Given the description of an element on the screen output the (x, y) to click on. 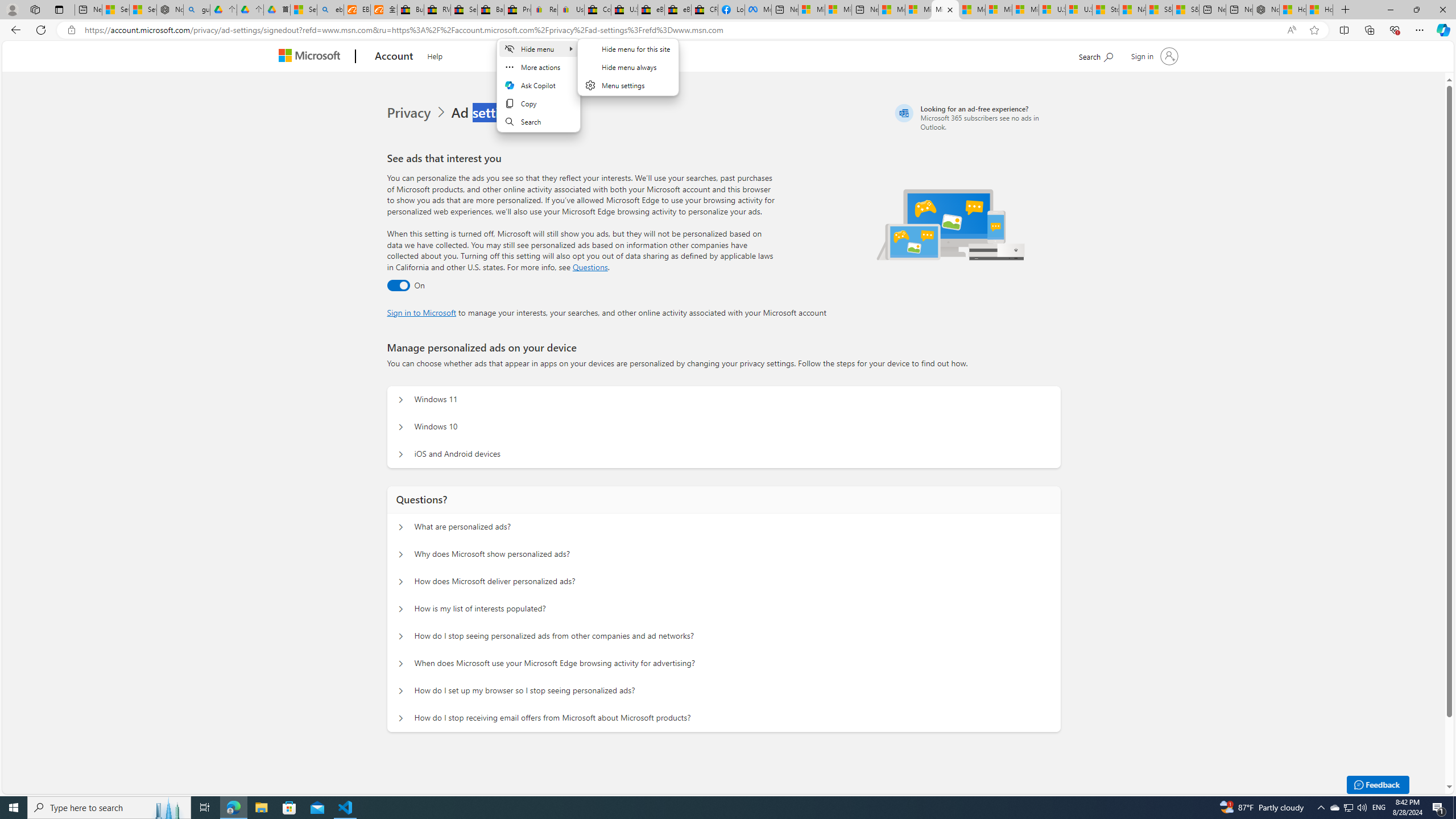
Ad settings (488, 112)
Questions? How does Microsoft deliver personalized ads? (401, 581)
Manage personalized ads on your device Windows 10 (401, 427)
Illustration of multiple devices (951, 224)
Collections (1369, 29)
Settings and more (Alt+F) (1419, 29)
Log into Facebook (731, 9)
Privacy (410, 112)
Buy Auto Parts & Accessories | eBay (411, 9)
Help (434, 54)
eBay Inc. Reports Third Quarter 2023 Results (677, 9)
Manage personalized ads on your device Windows 11 (401, 400)
